Given the description of an element on the screen output the (x, y) to click on. 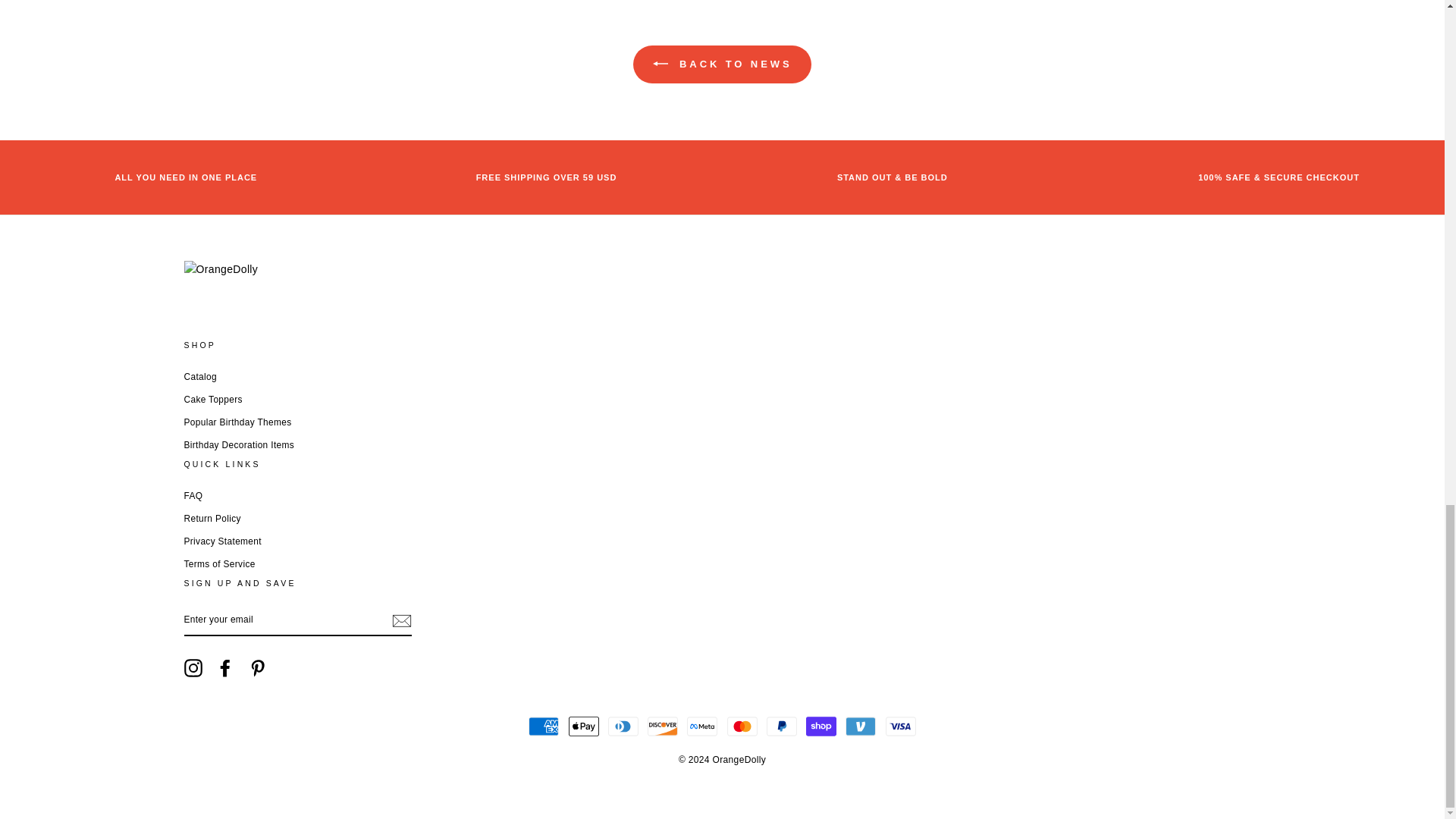
OrangeDolly on Pinterest (257, 668)
Mastercard (741, 726)
Discover (662, 726)
PayPal (781, 726)
OrangeDolly on Facebook (224, 668)
Apple Pay (583, 726)
OrangeDolly on Instagram (192, 668)
Meta Pay (702, 726)
Diners Club (623, 726)
American Express (543, 726)
